Given the description of an element on the screen output the (x, y) to click on. 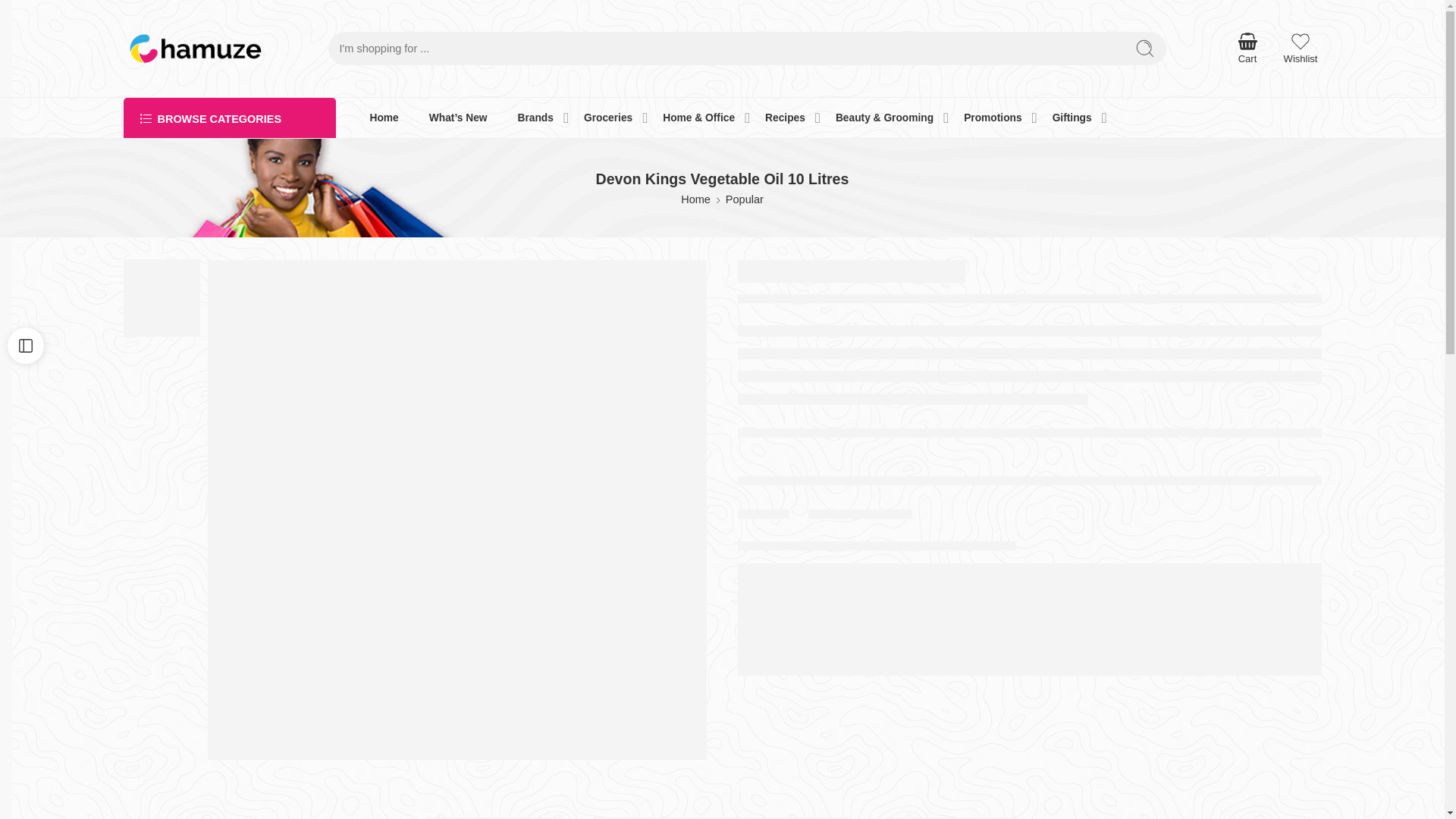
Wishlist (1300, 48)
Chamuze - Start Saving Now (194, 48)
Brands (534, 118)
Cart (1247, 47)
Cart (1247, 47)
Wishlist (1300, 48)
